Given the description of an element on the screen output the (x, y) to click on. 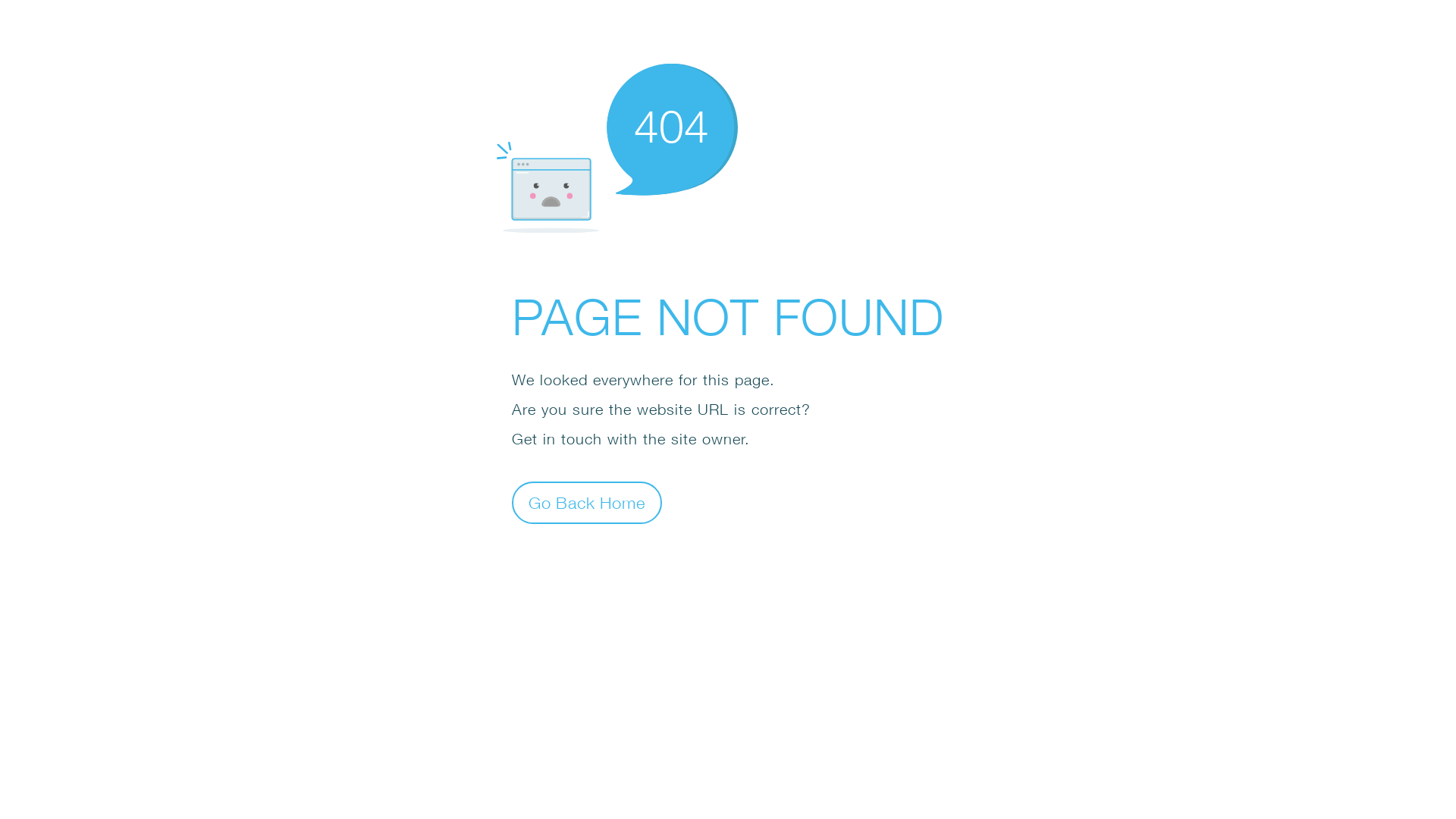
Go Back Home Element type: text (586, 502)
